Given the description of an element on the screen output the (x, y) to click on. 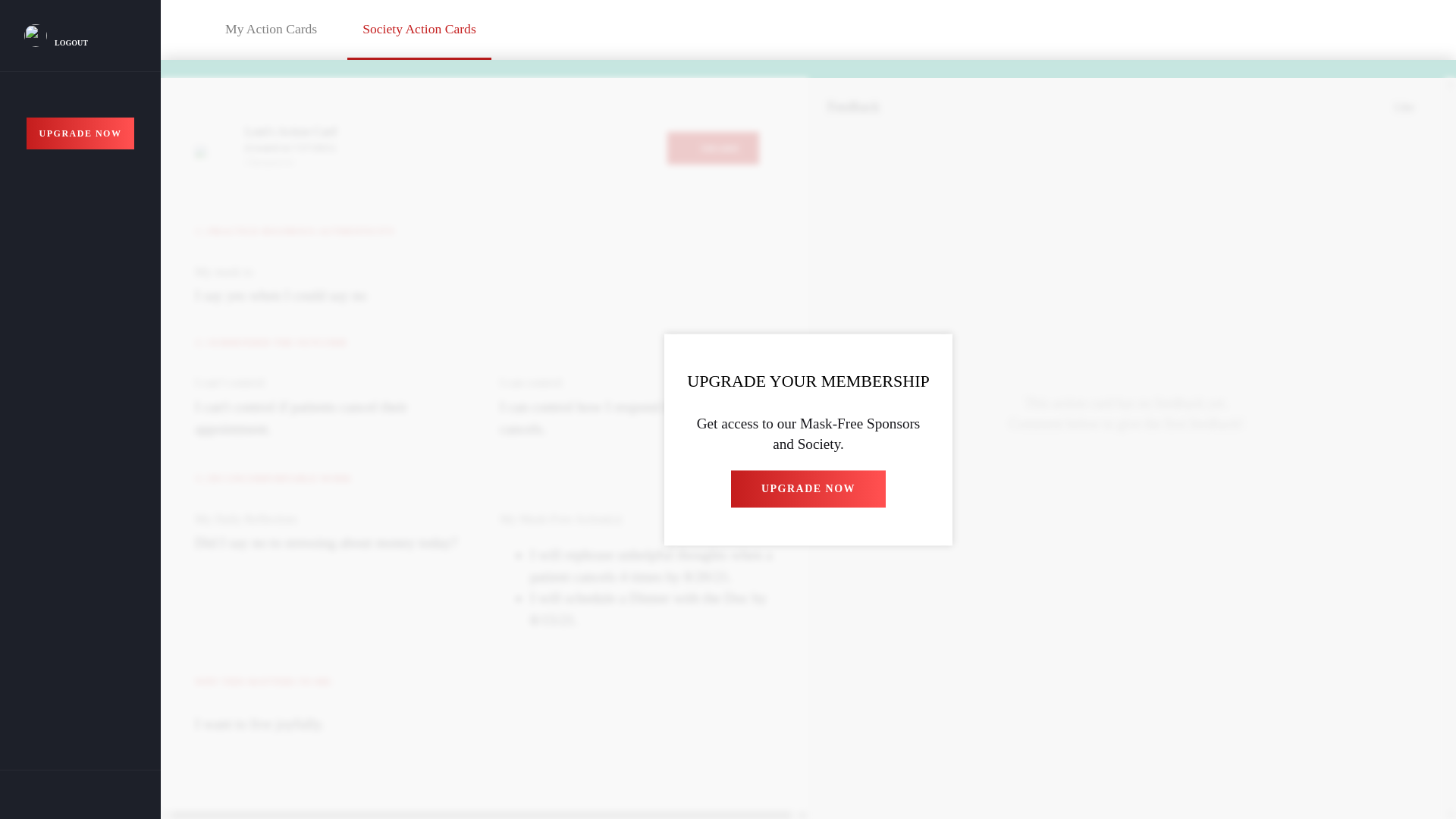
UPGRADE NOW (79, 133)
My Action Cards (270, 32)
Share (1041, 365)
SHARE (712, 147)
LOGOUT (77, 42)
Society Action Cards (419, 33)
UPGRADE NOW (807, 488)
